Given the description of an element on the screen output the (x, y) to click on. 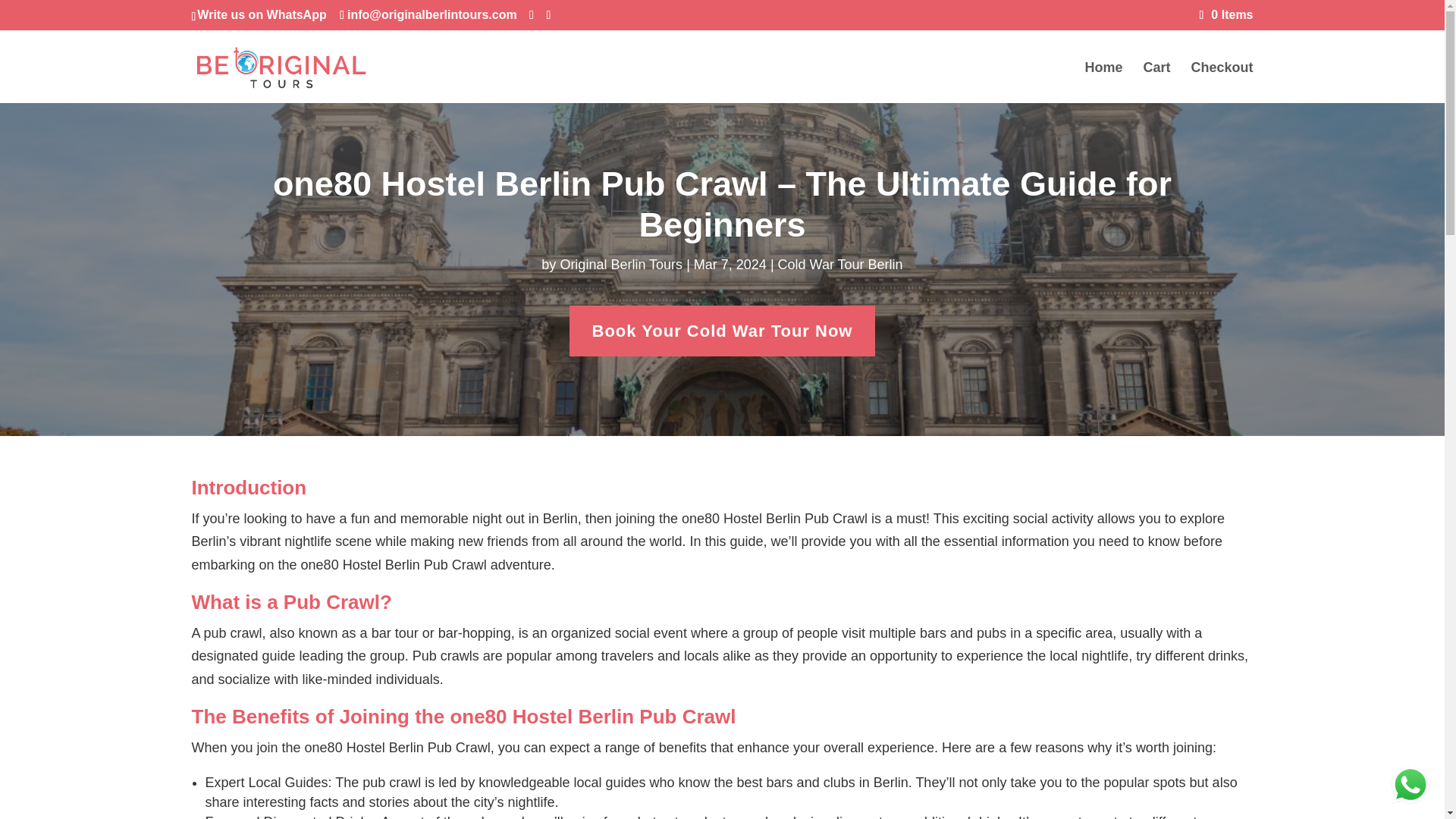
Write us on WhatsApp (261, 14)
Original Berlin Tours (620, 264)
Posts by Original Berlin Tours (620, 264)
WhatsApp us (1410, 784)
Book Your Cold War Tour Now (722, 330)
0 Items (1226, 14)
Home (1103, 82)
Checkout (1221, 82)
Cold War Tour Berlin (839, 264)
